Given the description of an element on the screen output the (x, y) to click on. 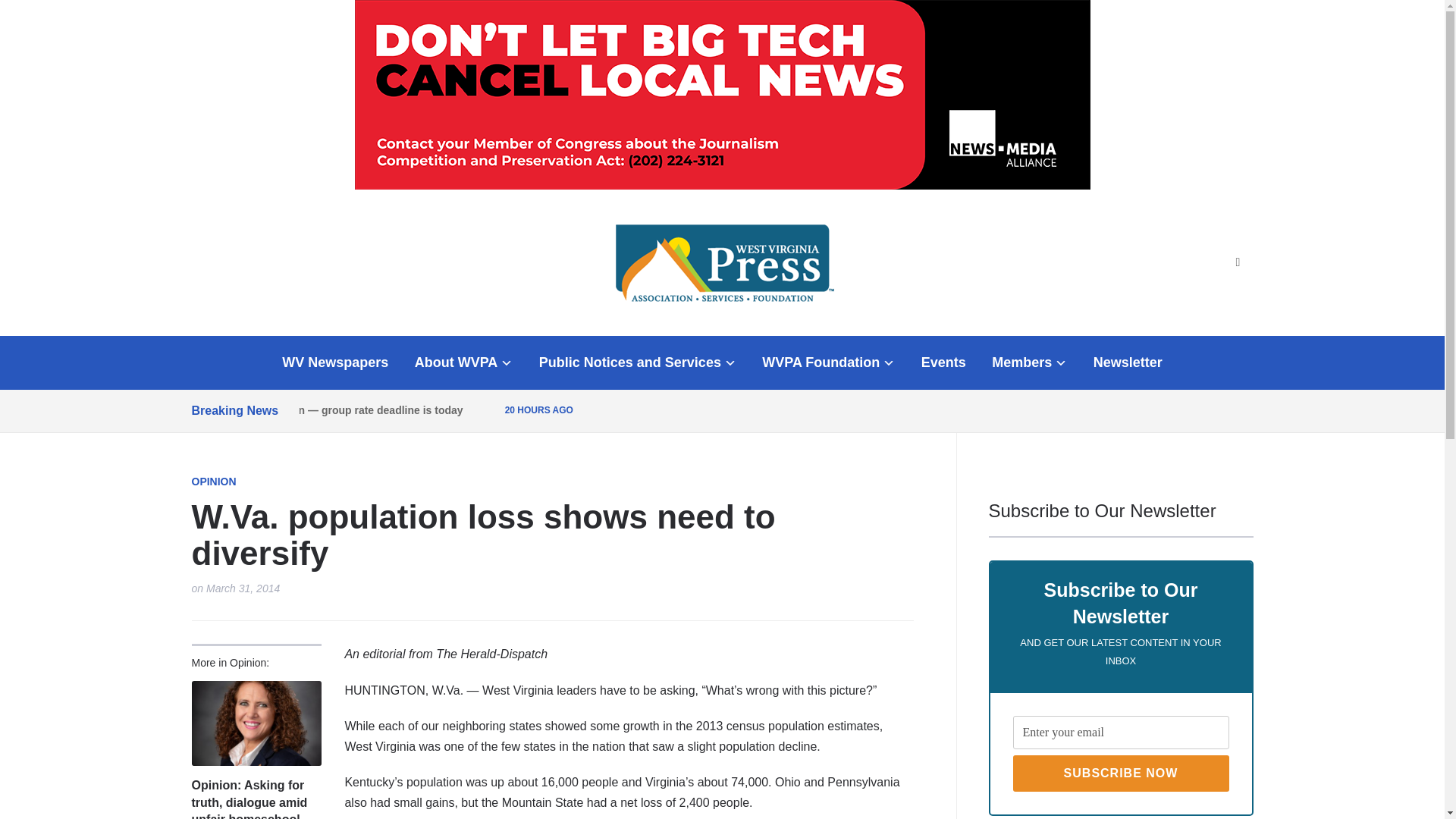
Subscribe Now (1120, 773)
Search (1237, 262)
